Given the description of an element on the screen output the (x, y) to click on. 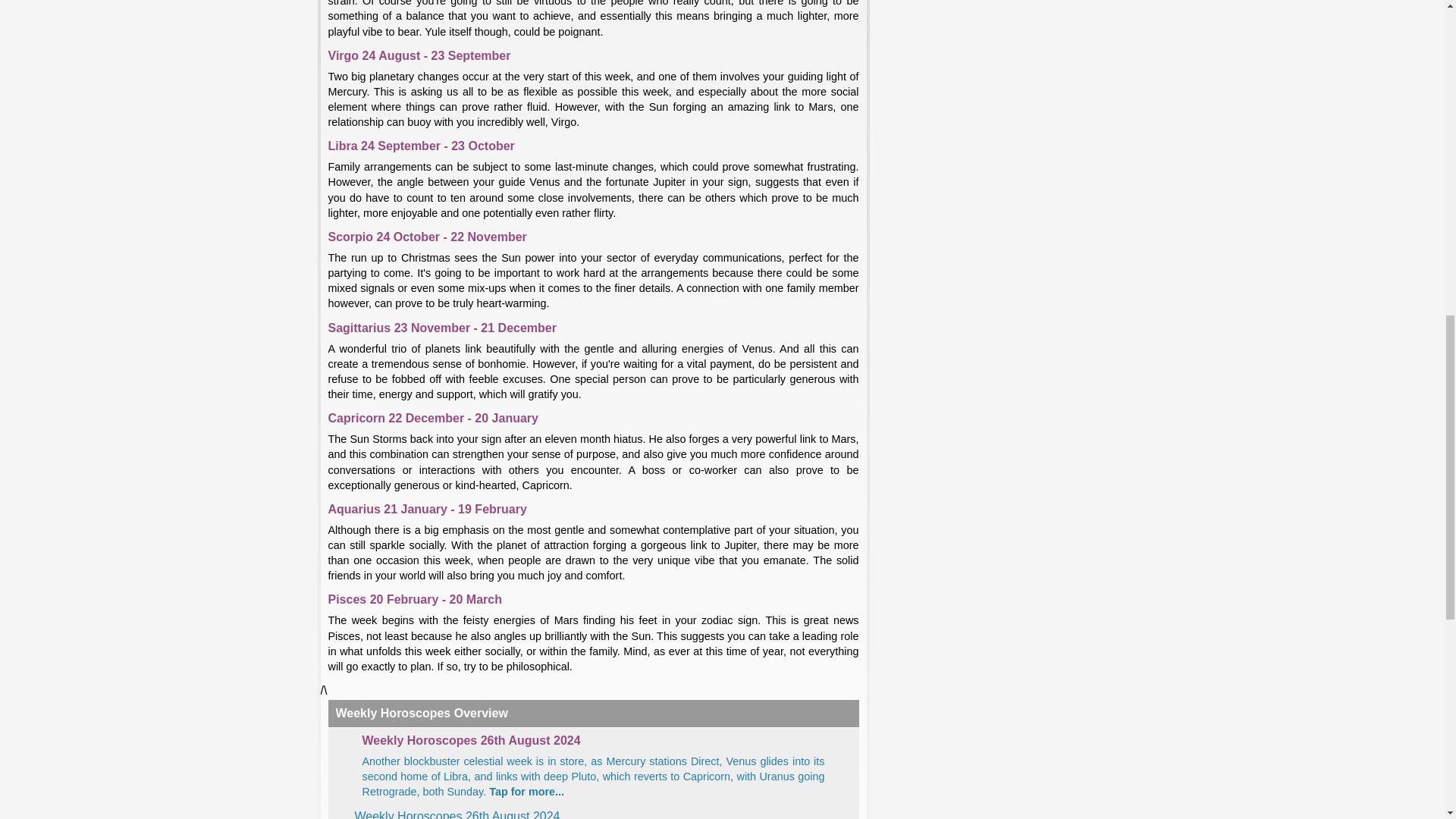
Weekly Horoscopes 26th August 2024 (593, 741)
Weekly Horoscopes 26th August 2024 (593, 776)
Weekly Horoscopes 26th August 2024 (457, 814)
